Given the description of an element on the screen output the (x, y) to click on. 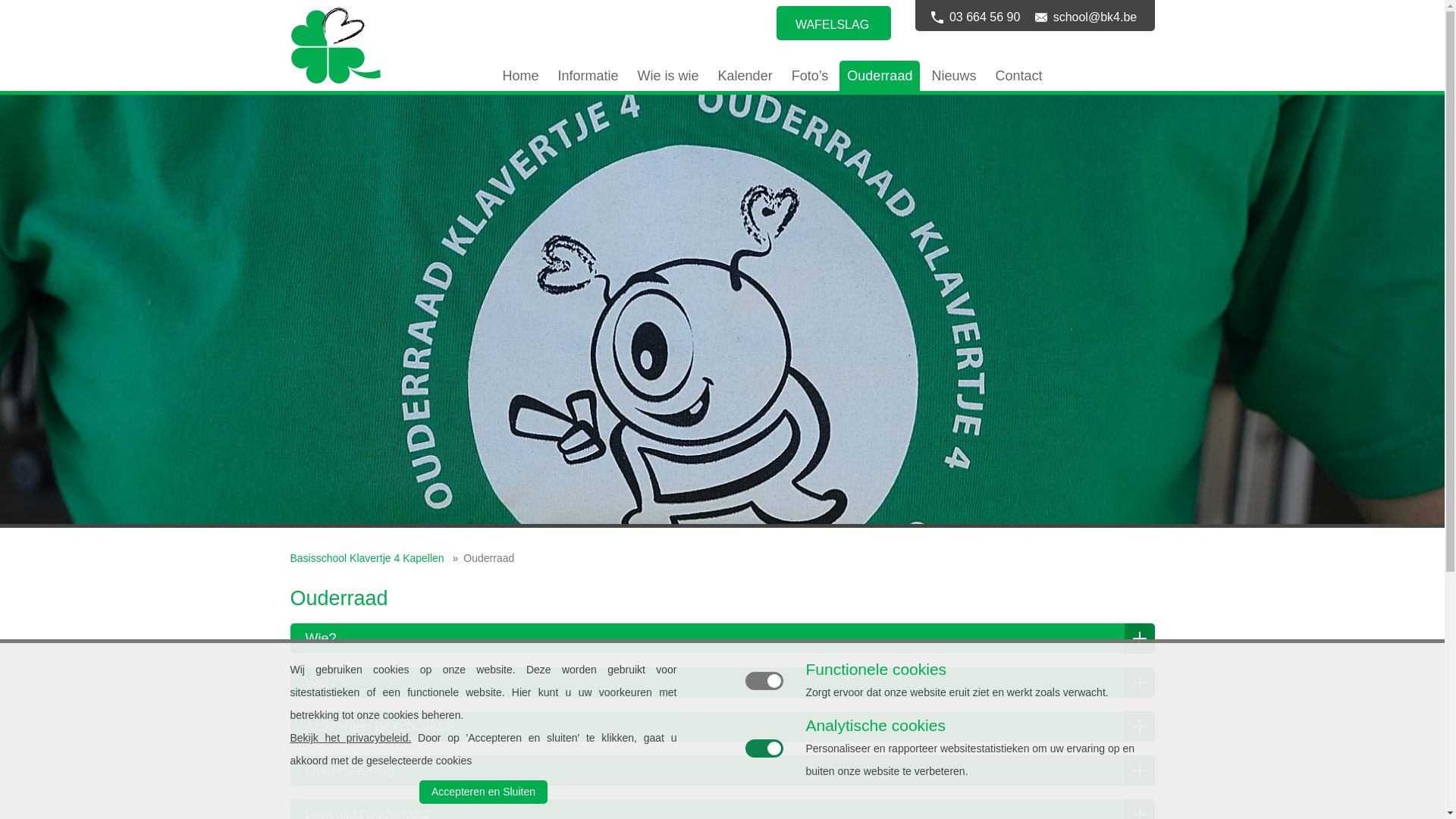
Contact Element type: text (1018, 75)
Nieuws Element type: text (953, 75)
Ouderraad Element type: text (879, 75)
Basisschool Klavertje 4 Kapellen Element type: hover (386, 45)
Accepteren en Sluiten Element type: text (482, 791)
Home Element type: text (520, 75)
WAFELSLAG Element type: text (831, 24)
Basisschool Klavertje 4 Kapellen Element type: text (366, 558)
Informatie Element type: text (588, 75)
school@bk4.be Element type: text (1086, 16)
03 664 56 90 Element type: text (976, 16)
Bekijk het privacybeleid. Element type: text (350, 737)
Wie is wie Element type: text (668, 75)
Kalender Element type: text (745, 75)
